Given the description of an element on the screen output the (x, y) to click on. 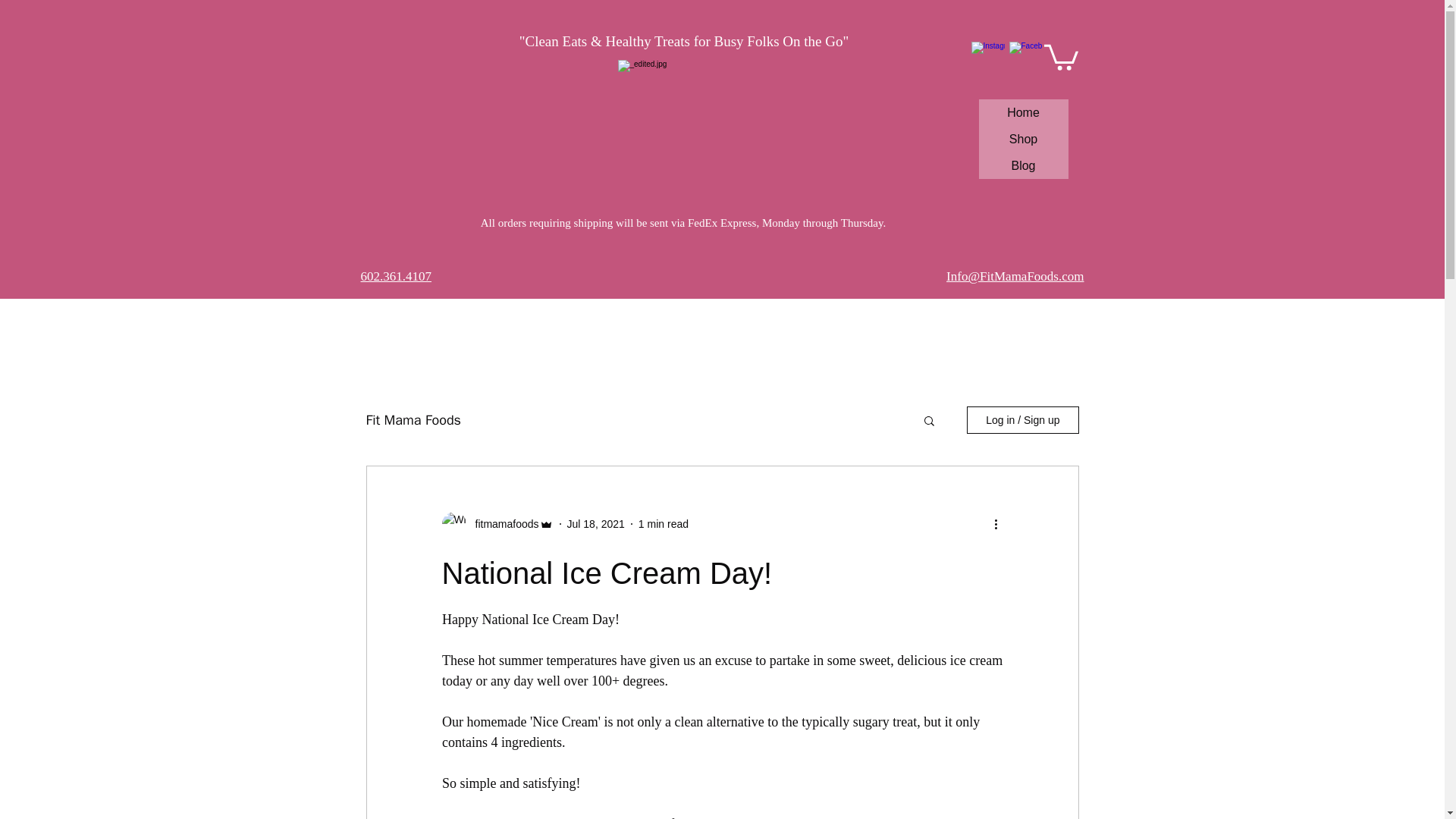
Home (1022, 112)
fitmamafoods (501, 524)
1 min read (663, 523)
Blog (1022, 165)
Fit Mama Foods (412, 420)
Jul 18, 2021 (595, 523)
602.361.4107 (396, 276)
Shop (1022, 139)
